Given the description of an element on the screen output the (x, y) to click on. 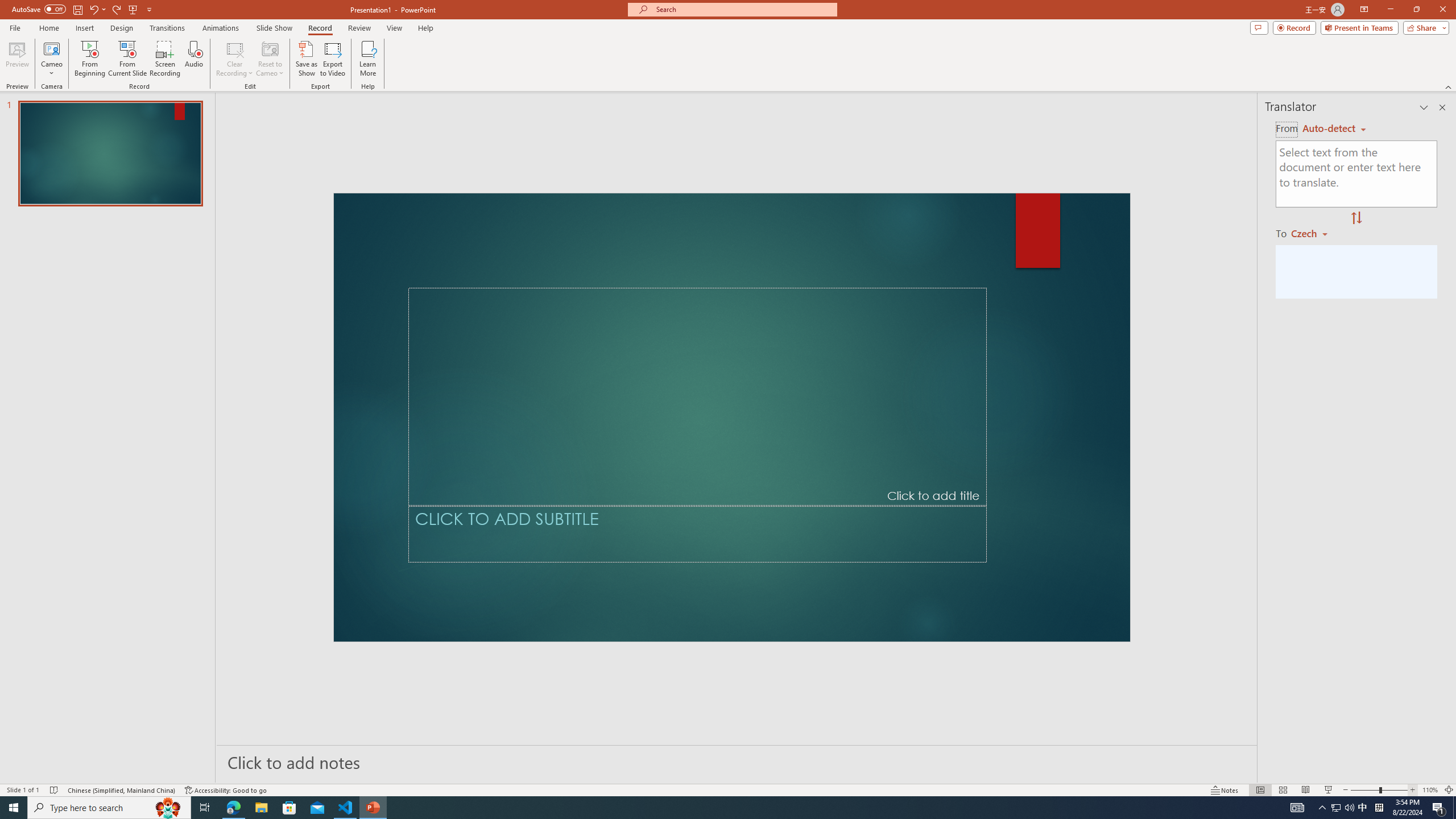
Czech (1313, 232)
Save as Show (306, 58)
Subtitle TextBox (697, 533)
